Given the description of an element on the screen output the (x, y) to click on. 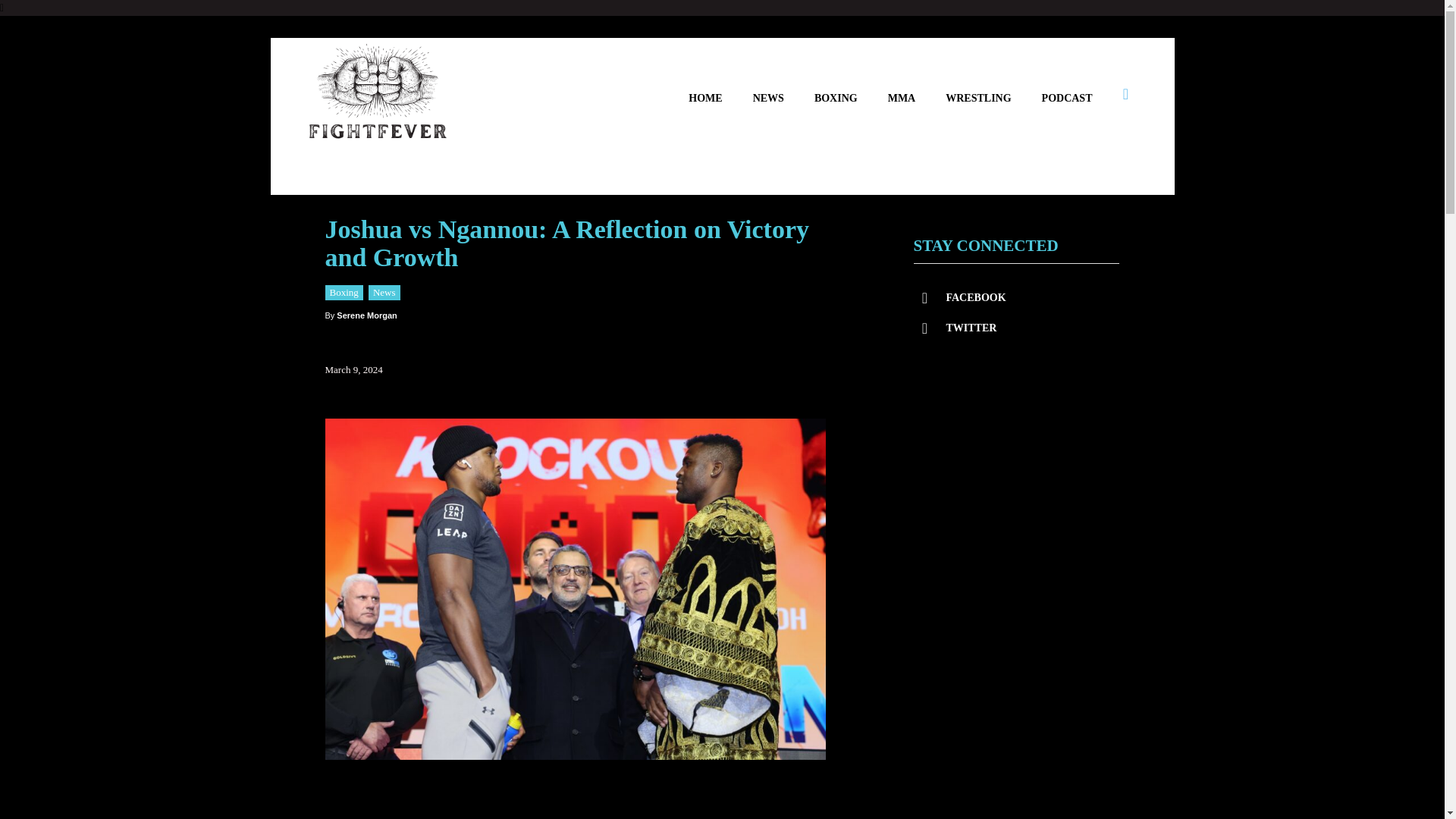
Serene Morgan (366, 314)
Boxing (343, 292)
WRESTLING (977, 97)
News (384, 292)
